Given the description of an element on the screen output the (x, y) to click on. 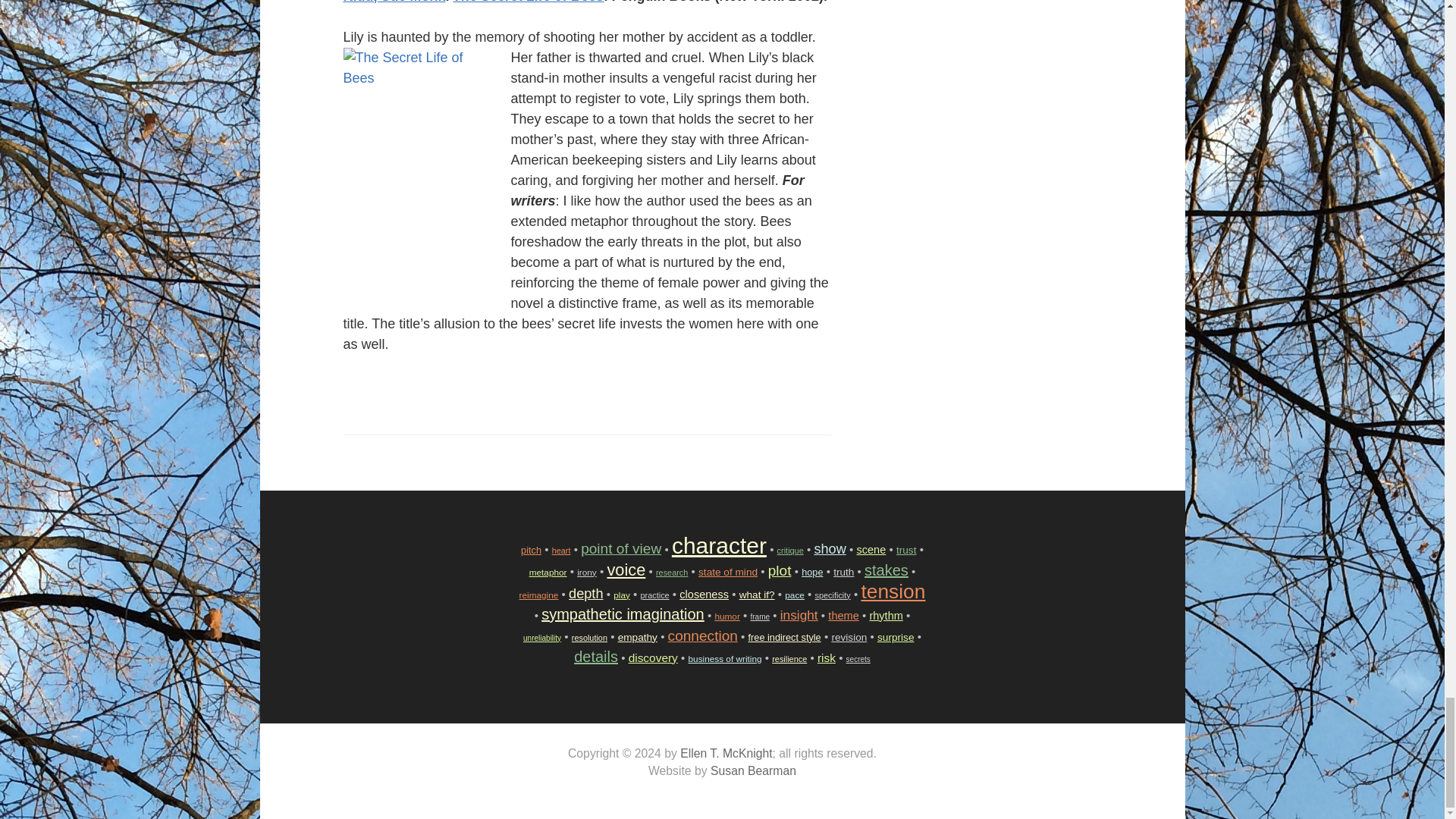
voice (626, 569)
point of view (620, 548)
Kidd, Sue Monk (393, 2)
scene (870, 549)
plot (780, 569)
character (719, 545)
state of mind (727, 572)
research (671, 572)
heart (560, 549)
irony (586, 571)
